Given the description of an element on the screen output the (x, y) to click on. 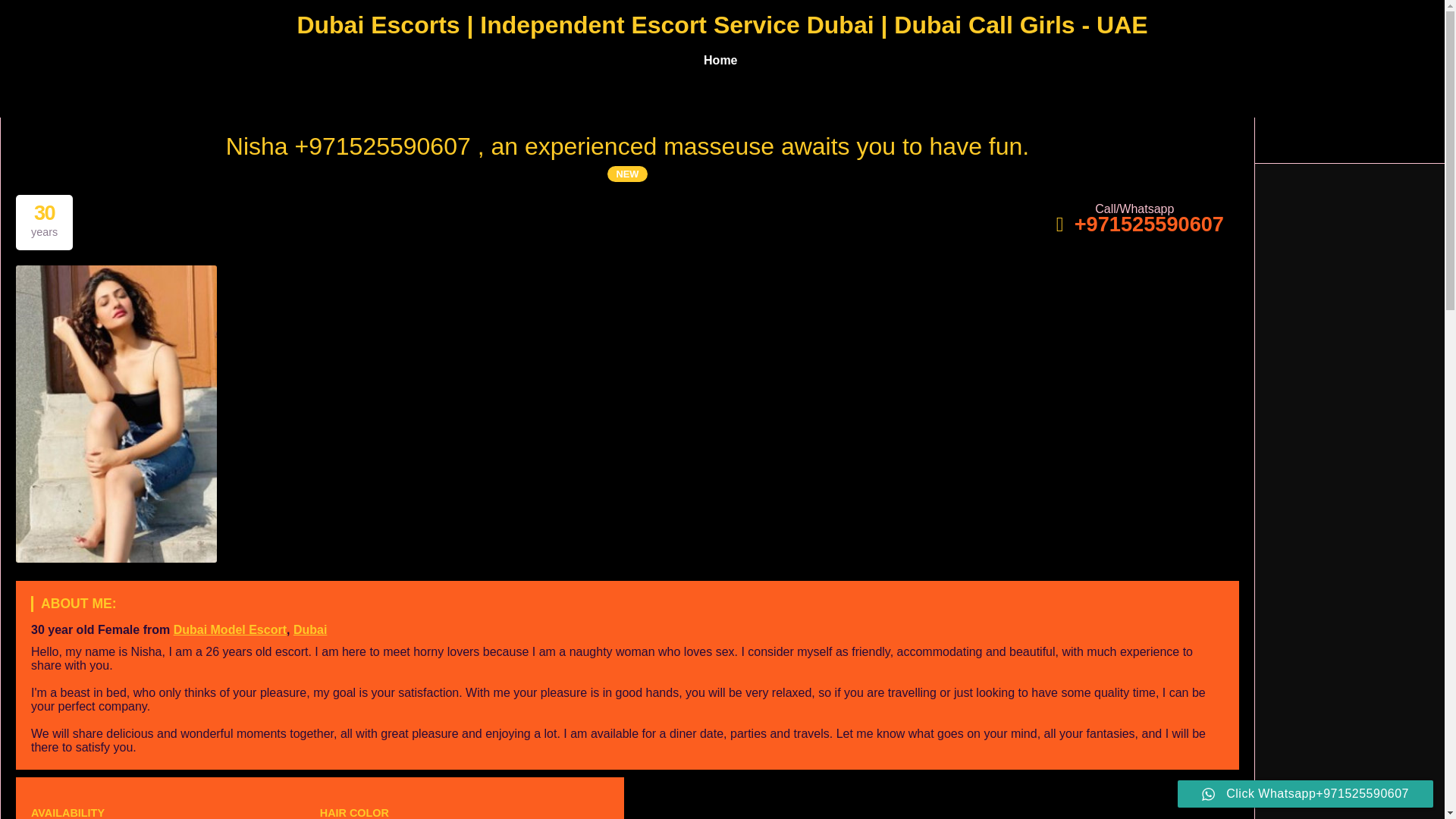
Dubai (310, 629)
Dubai (310, 629)
Home (720, 60)
Dubai Model Escort (229, 629)
Dubai Model Escort (229, 629)
